Given the description of an element on the screen output the (x, y) to click on. 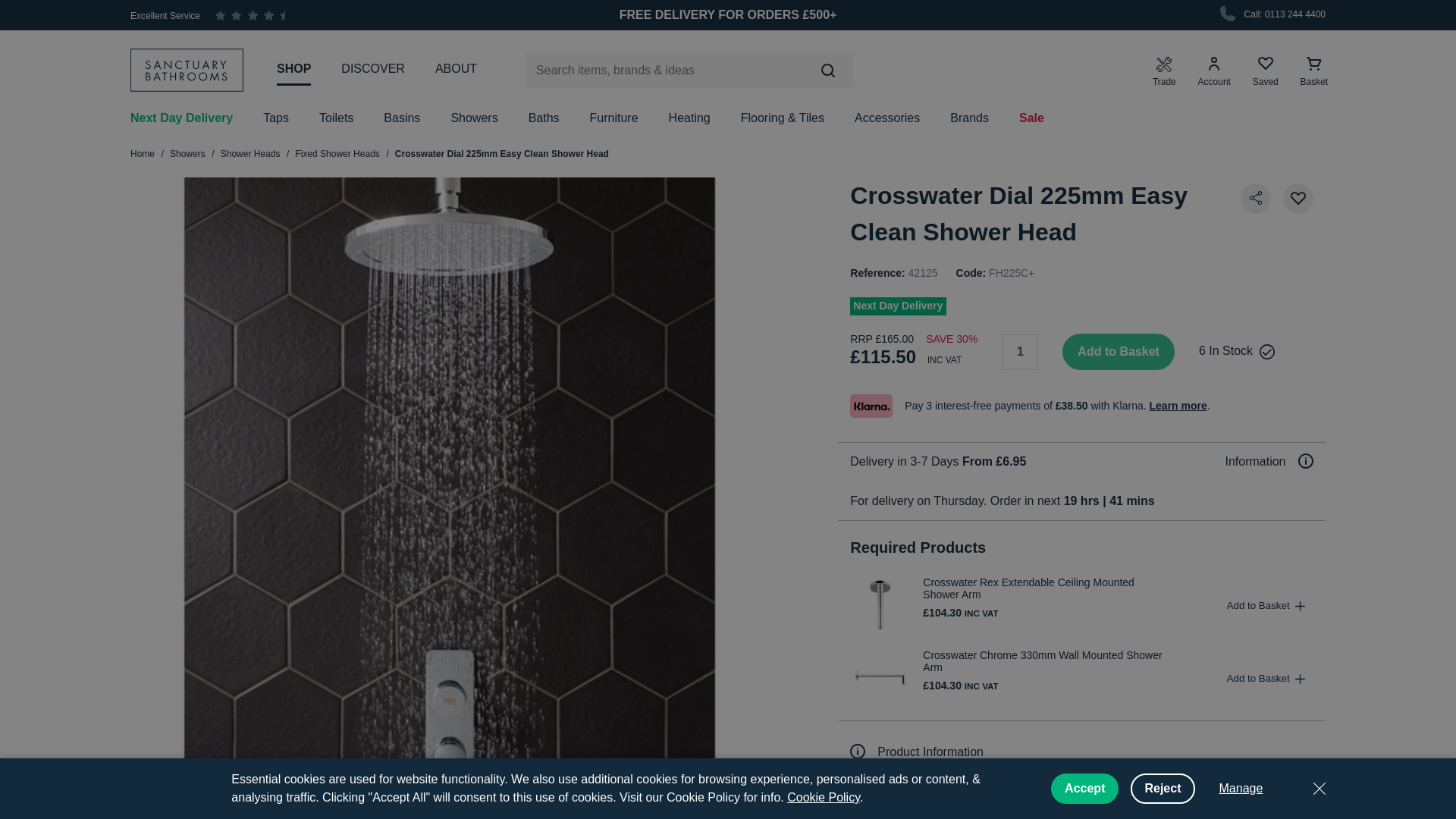
Remove from wishlist (1297, 198)
Taps (275, 118)
Call: 0113 244 4400 (1270, 14)
Product Information (917, 751)
ABOUT (456, 68)
Account (1214, 71)
DISCOVER (372, 68)
Basket (1314, 71)
SHOP (293, 69)
Toilets (335, 118)
